Given the description of an element on the screen output the (x, y) to click on. 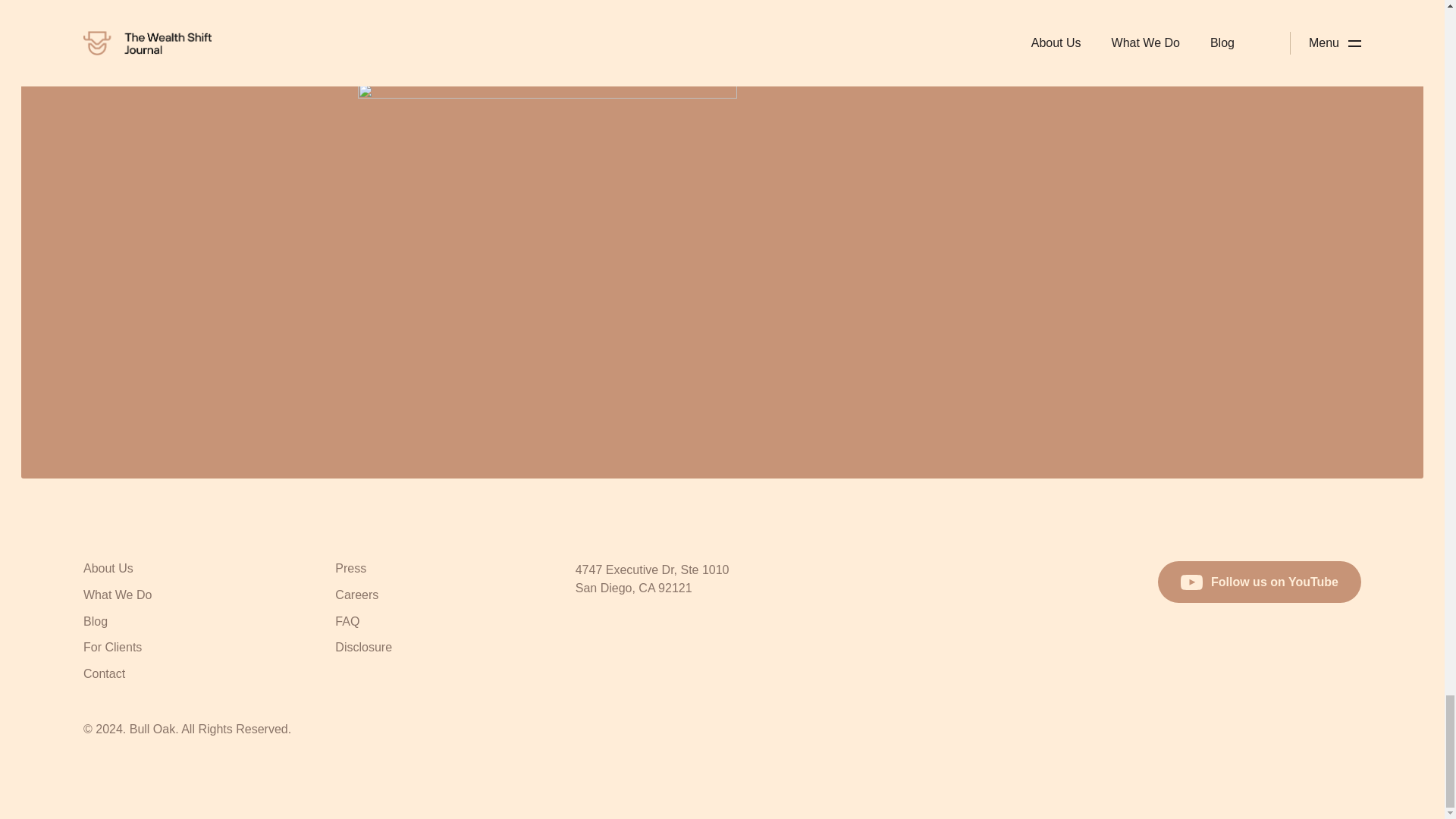
About Us (107, 569)
Blog (94, 623)
Press (350, 569)
Contact (103, 675)
FAQ (346, 623)
Careers (356, 596)
Disclosure (362, 648)
What We Do (116, 596)
For Clients (111, 648)
